Given the description of an element on the screen output the (x, y) to click on. 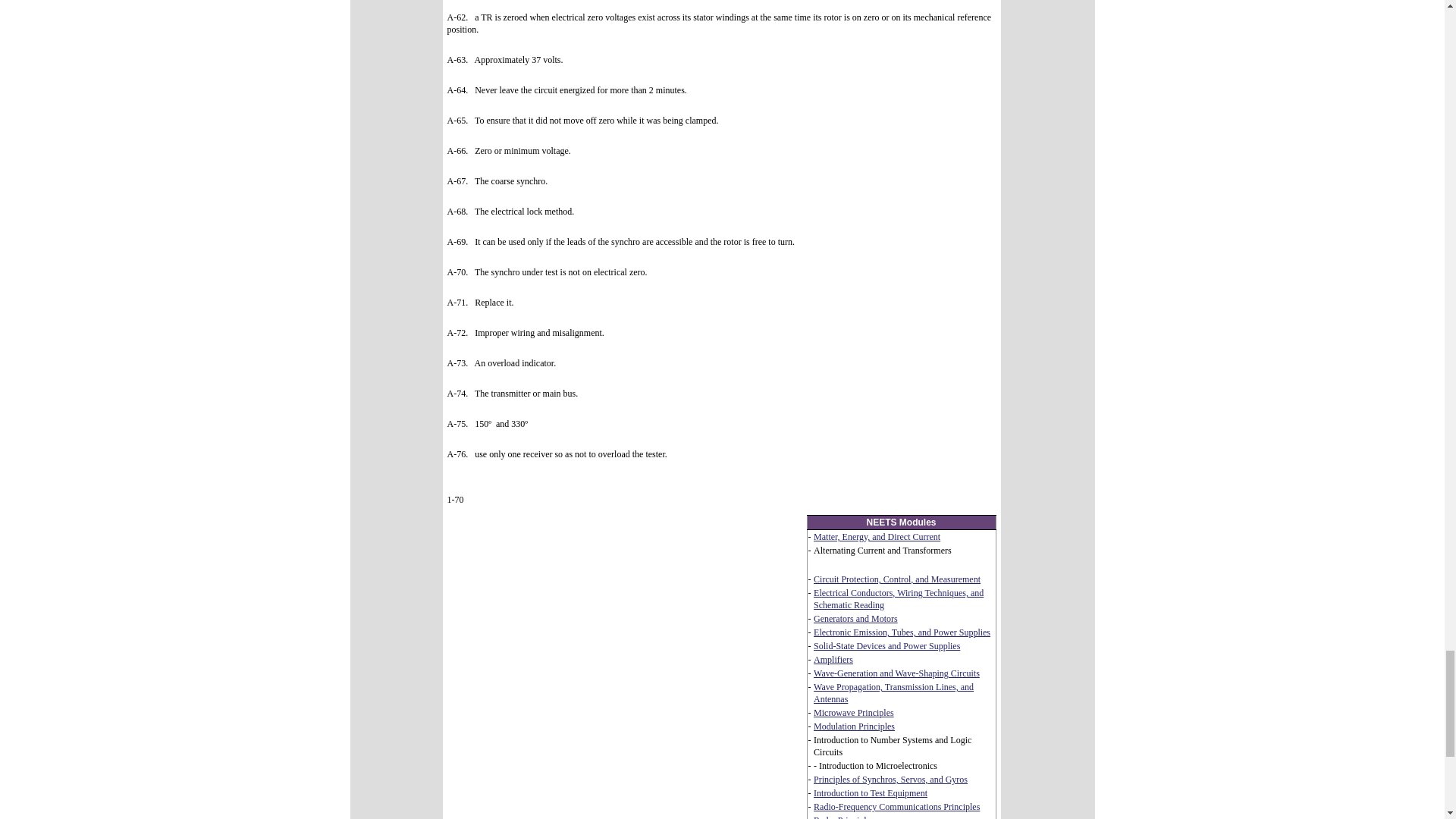
Circuit Protection, Control, and Measurement (896, 579)
Wave-Generation and Wave-Shaping Circuits (896, 673)
Matter, Energy, and Direct Current (876, 536)
Solid-State Devices and Power Supplies (886, 645)
Amplifiers (833, 659)
Microwave Principles (853, 712)
Electronic Emission, Tubes, and Power Supplies (901, 632)
Generators and Motors (855, 618)
Wave Propagation, Transmission Lines, and Antennas (893, 692)
